Given the description of an element on the screen output the (x, y) to click on. 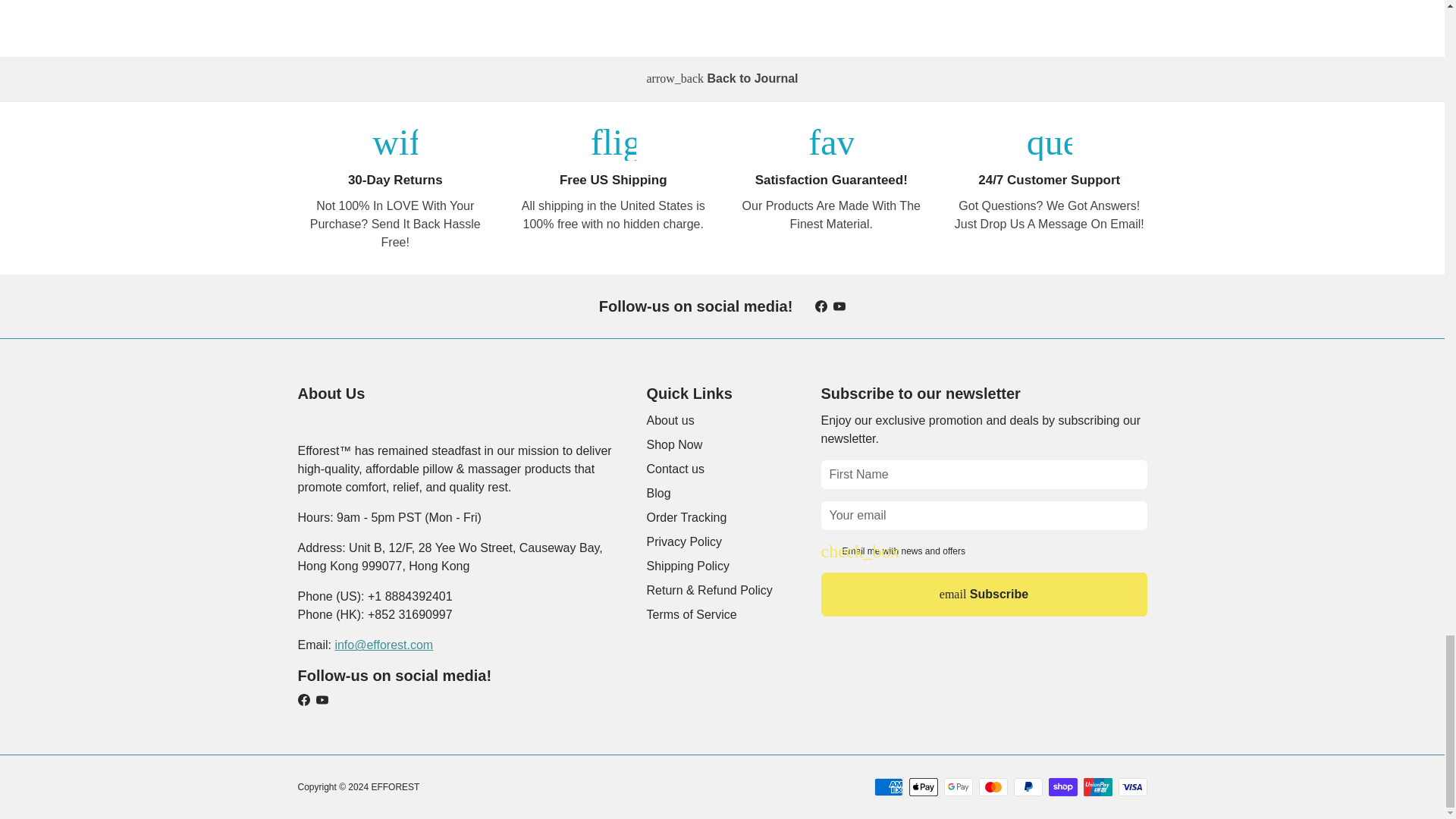
Google Pay (957, 787)
EFFOREST on Youtube (838, 305)
Shop Pay (1062, 787)
American Express (887, 787)
Mastercard (992, 787)
EFFOREST on Facebook (821, 305)
Visa (1132, 787)
PayPal (1027, 787)
Union Pay (1097, 787)
Apple Pay (922, 787)
